Given the description of an element on the screen output the (x, y) to click on. 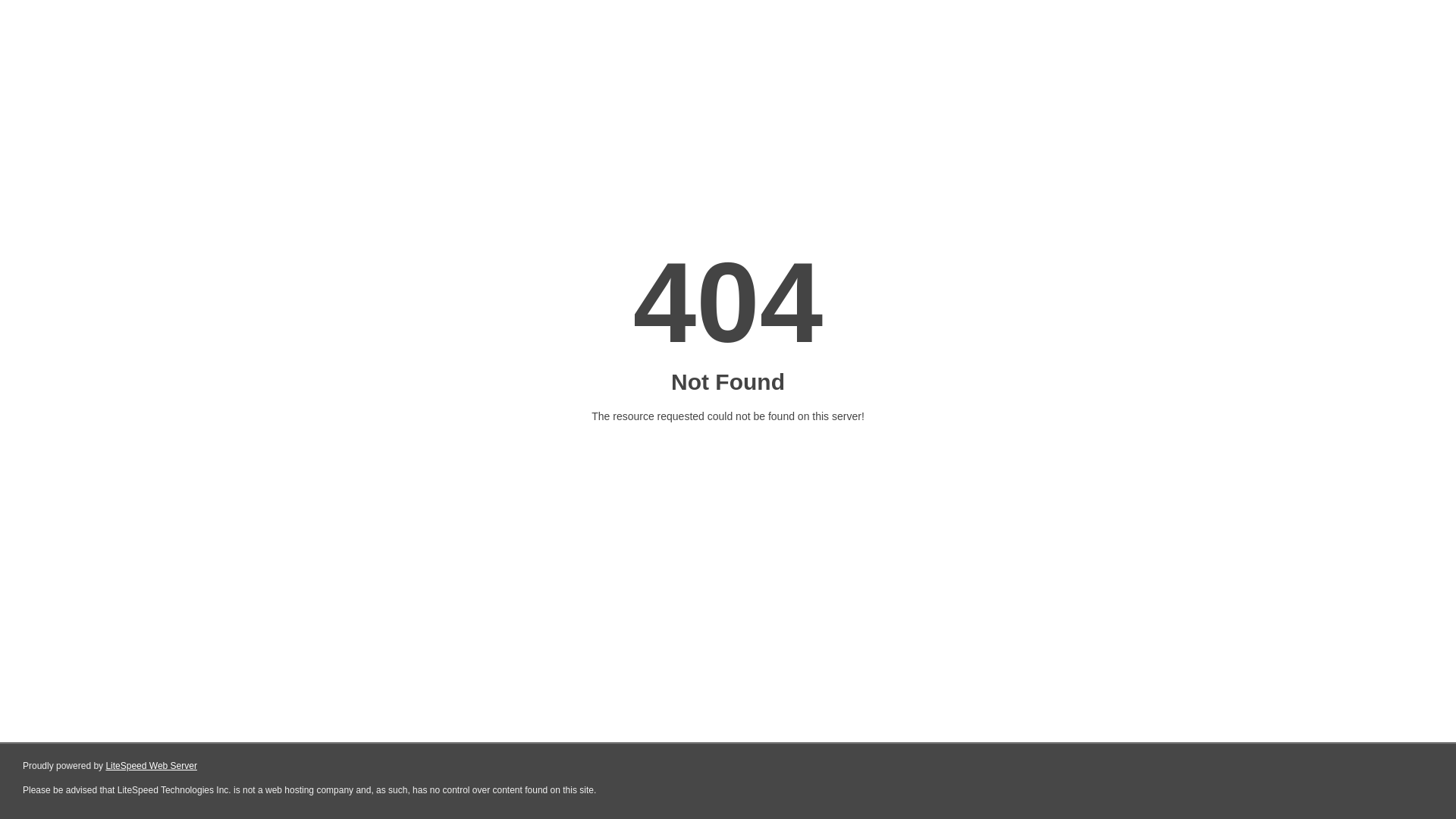
LiteSpeed Web Server Element type: text (151, 765)
